Given the description of an element on the screen output the (x, y) to click on. 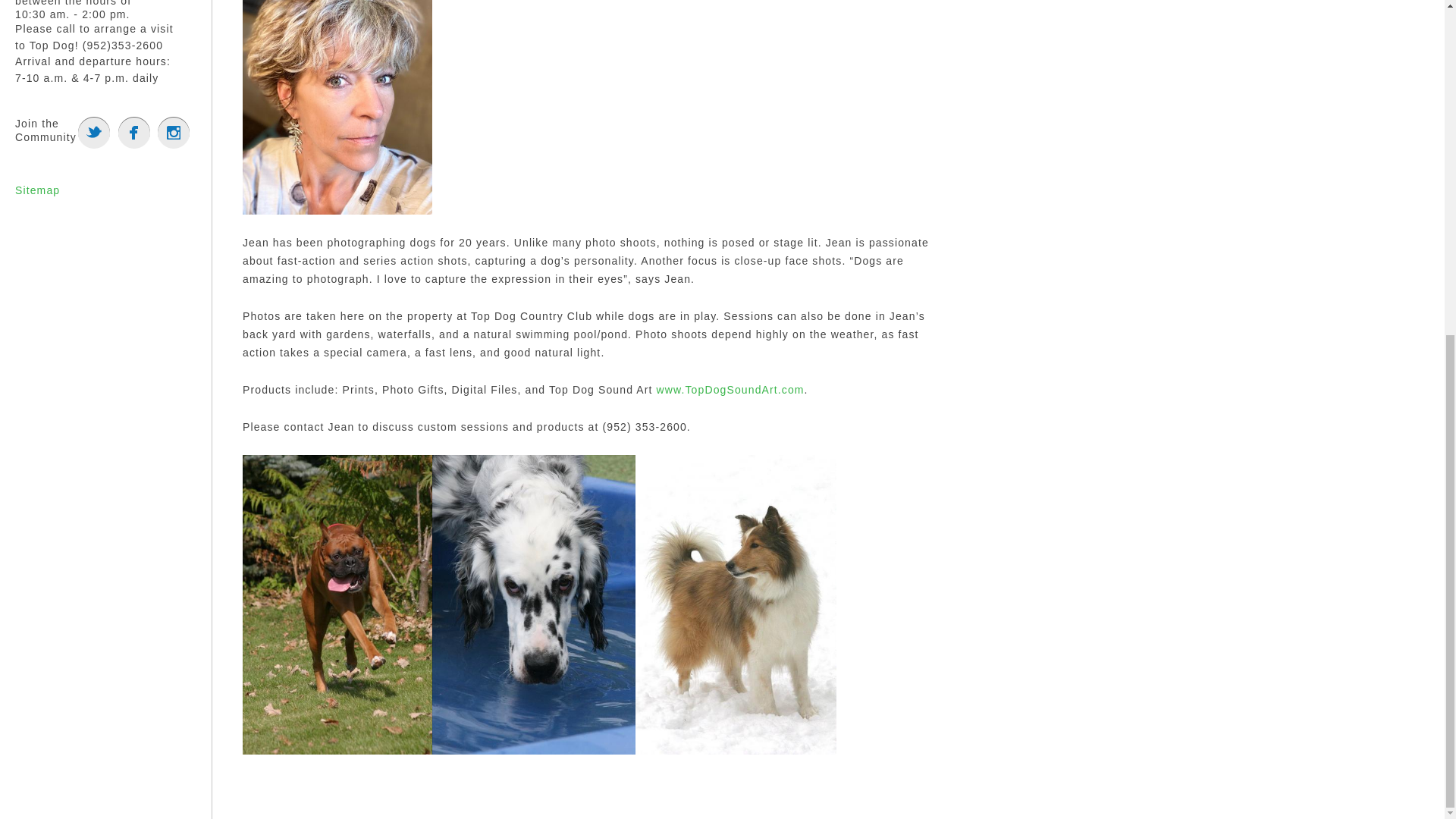
Sitemap (36, 190)
